Given the description of an element on the screen output the (x, y) to click on. 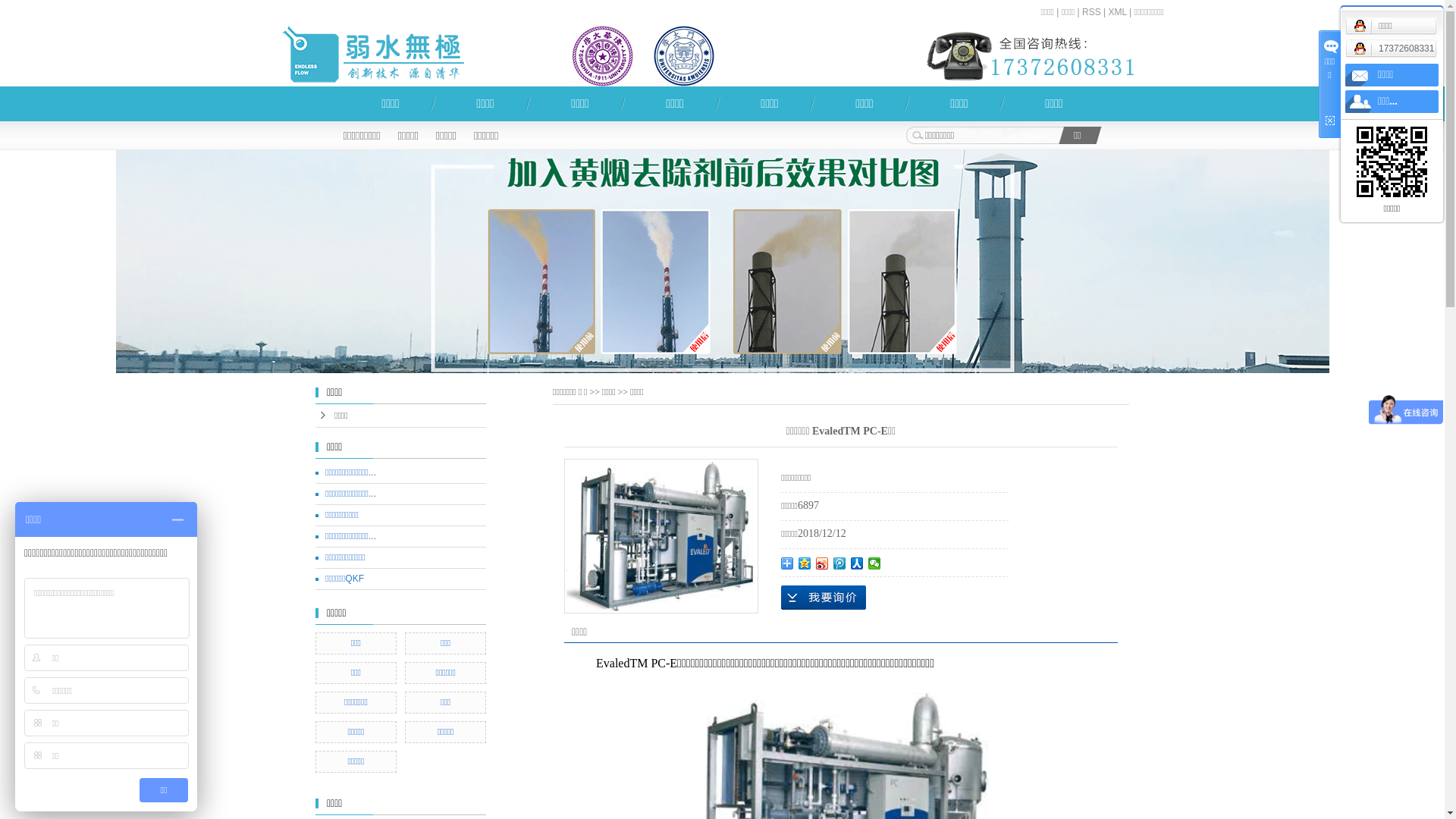
1513325049498058.png Element type: hover (602, 55)
17372608331 Element type: text (1396, 48)
1589524185609102.png Element type: hover (1031, 55)
RSS Element type: text (1091, 11)
1513325122802183.png Element type: hover (683, 55)
XML Element type: text (1117, 11)
